Given the description of an element on the screen output the (x, y) to click on. 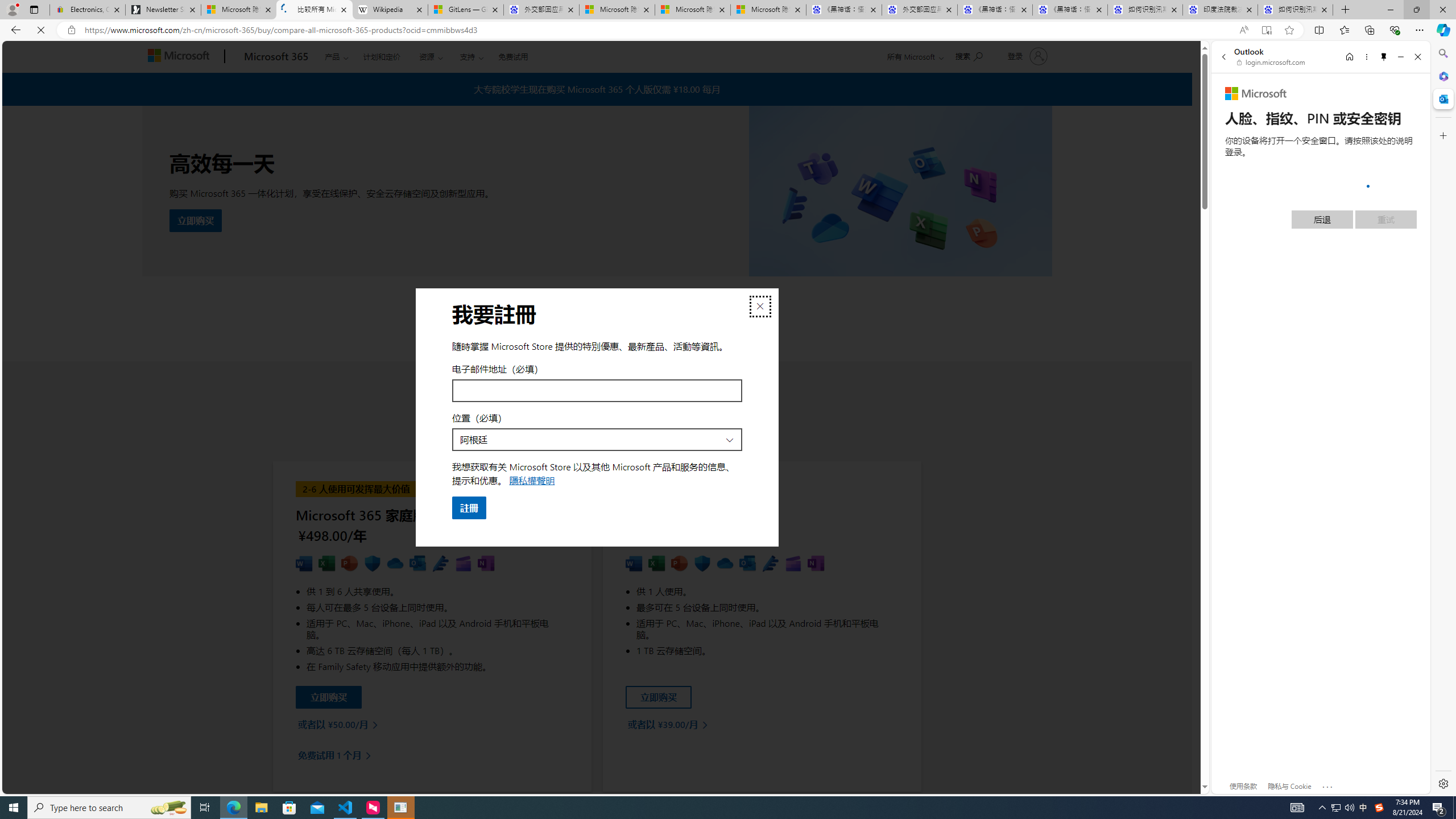
More options (1366, 56)
Microsoft (1255, 93)
Side bar (1443, 418)
Close Outlook pane (1442, 98)
Unpin side pane (1383, 56)
